Given the description of an element on the screen output the (x, y) to click on. 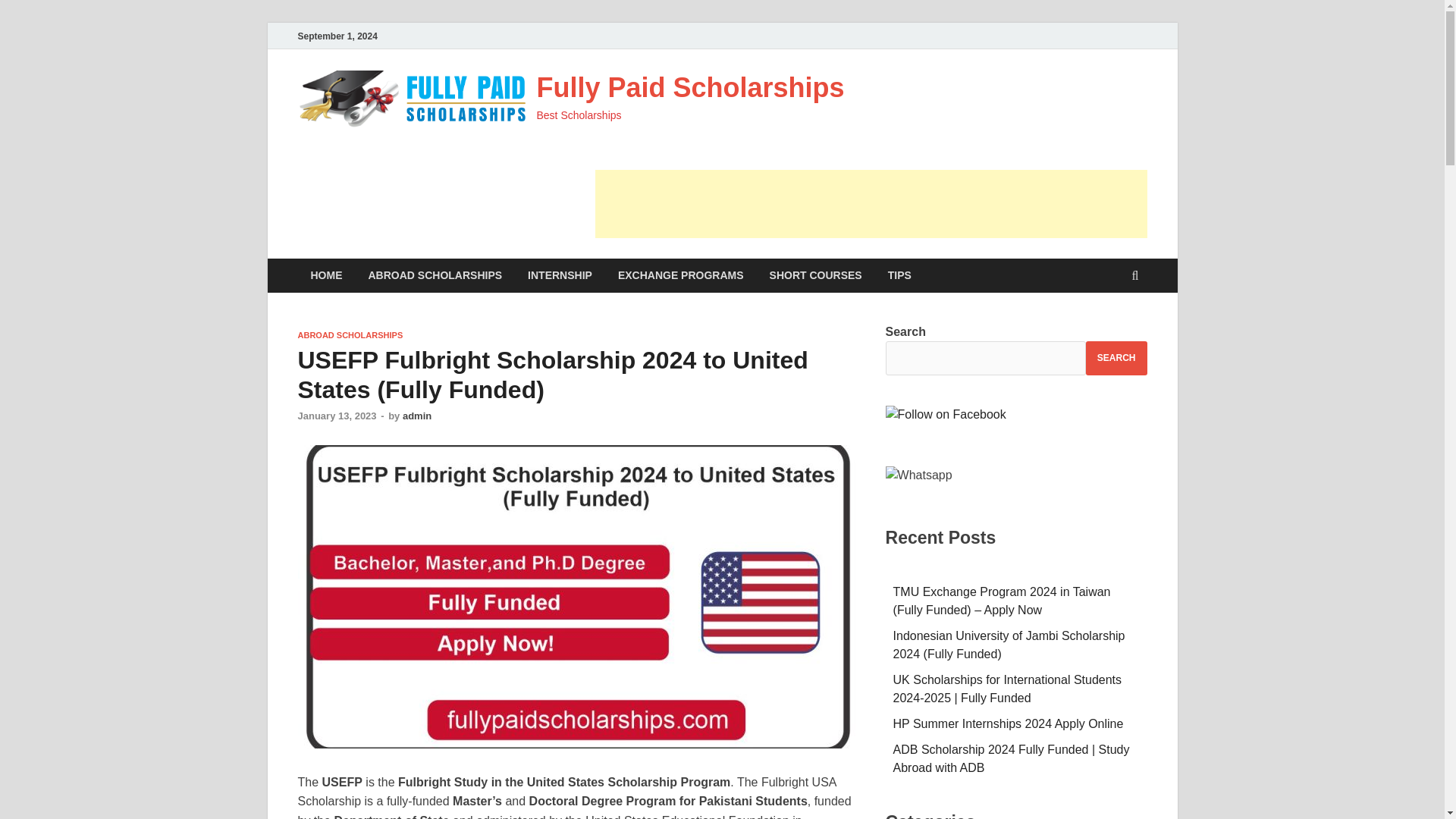
SEARCH (1116, 358)
INTERNSHIP (560, 275)
admin (416, 415)
HP Summer Internships 2024 Apply Online (1008, 723)
Fully Paid Scholarships (690, 87)
ABROAD SCHOLARSHIPS (435, 275)
January 13, 2023 (336, 415)
EXCHANGE PROGRAMS (681, 275)
HOME (326, 275)
SHORT COURSES (816, 275)
